Given the description of an element on the screen output the (x, y) to click on. 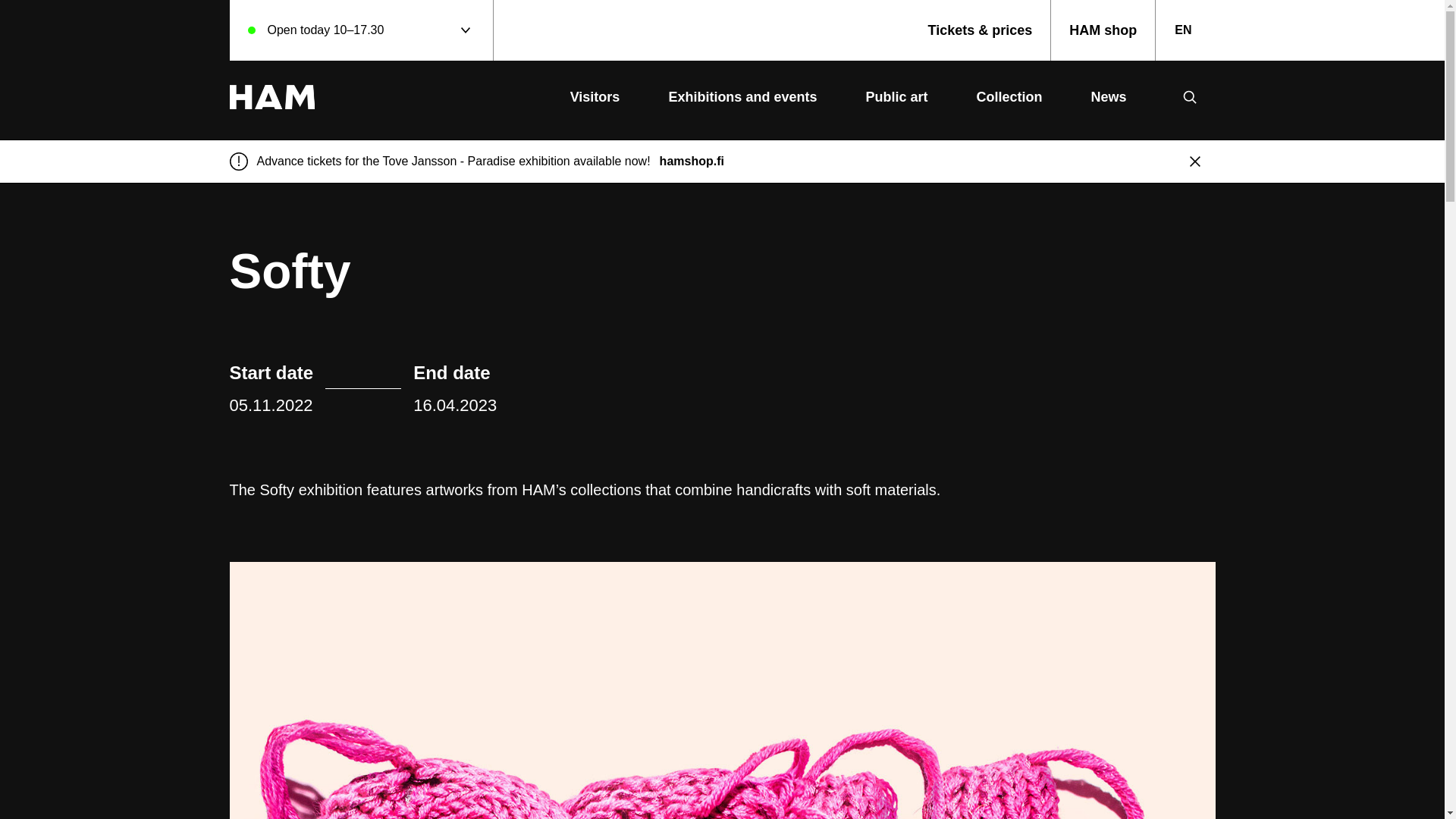
Visitors (595, 96)
Public art (895, 96)
Exhibitions and events (741, 96)
HAM (271, 96)
HAM shop (1102, 30)
News (1107, 96)
Collection (1008, 96)
